Given the description of an element on the screen output the (x, y) to click on. 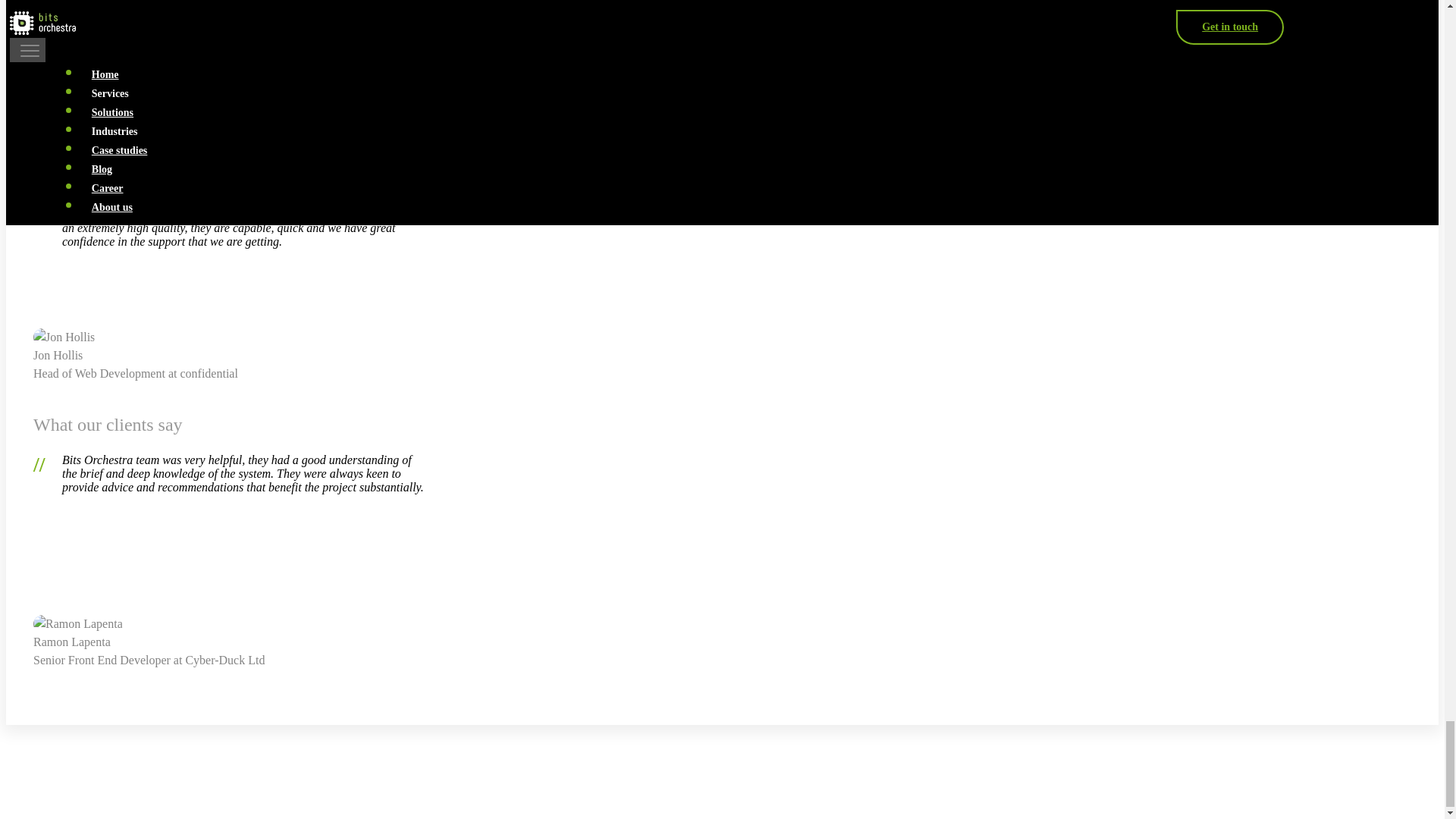
Ramon Lapenta (77, 624)
Sylvain Audet (74, 50)
Jon Hollis (63, 337)
